Given the description of an element on the screen output the (x, y) to click on. 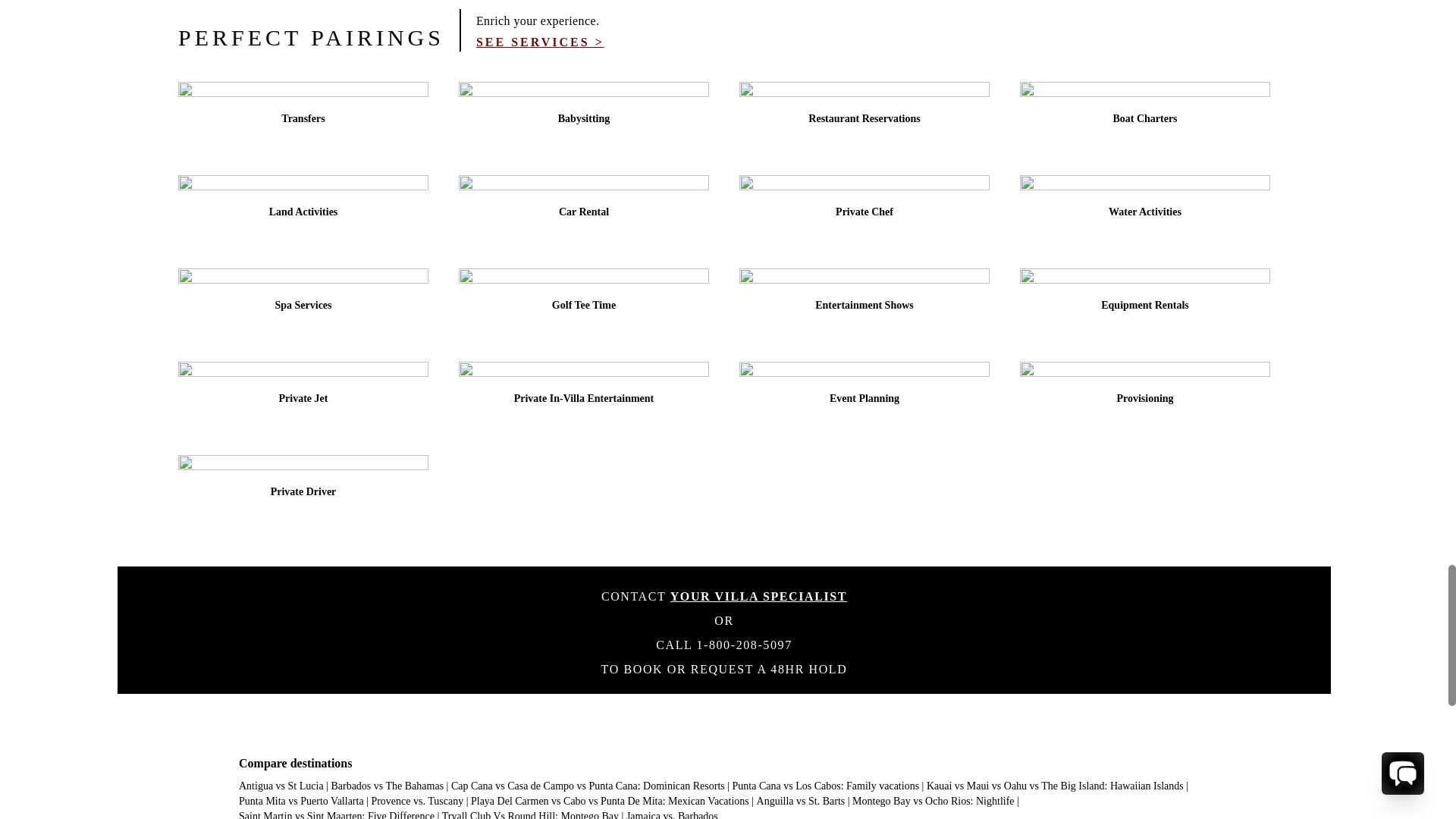
Tryall Club Vs Round Hill: Montego Bay (530, 814)
Saint Martin vs Sint Maarten: Five Difference (335, 814)
Jamaica vs. Barbados (671, 814)
Antigua vs St Lucia (280, 785)
Montego Bay vs Ocho Rios: Nightlife (932, 800)
Punta Cana vs Los Cabos: Family vacations (826, 785)
Cap Cana vs Casa de Campo vs Punta Cana: Dominican Resorts (588, 785)
Kauai vs Maui vs Oahu vs The Big Island: Hawaiian Islands (1054, 785)
Provence vs. Tuscany (417, 800)
Barbados vs The Bahamas (387, 785)
Anguilla vs St. Barts (801, 800)
Punta Mita vs Puerto Vallarta (301, 800)
Playa Del Carmen vs Cabo vs Punta De Mita: Mexican Vacations (609, 800)
